Given the description of an element on the screen output the (x, y) to click on. 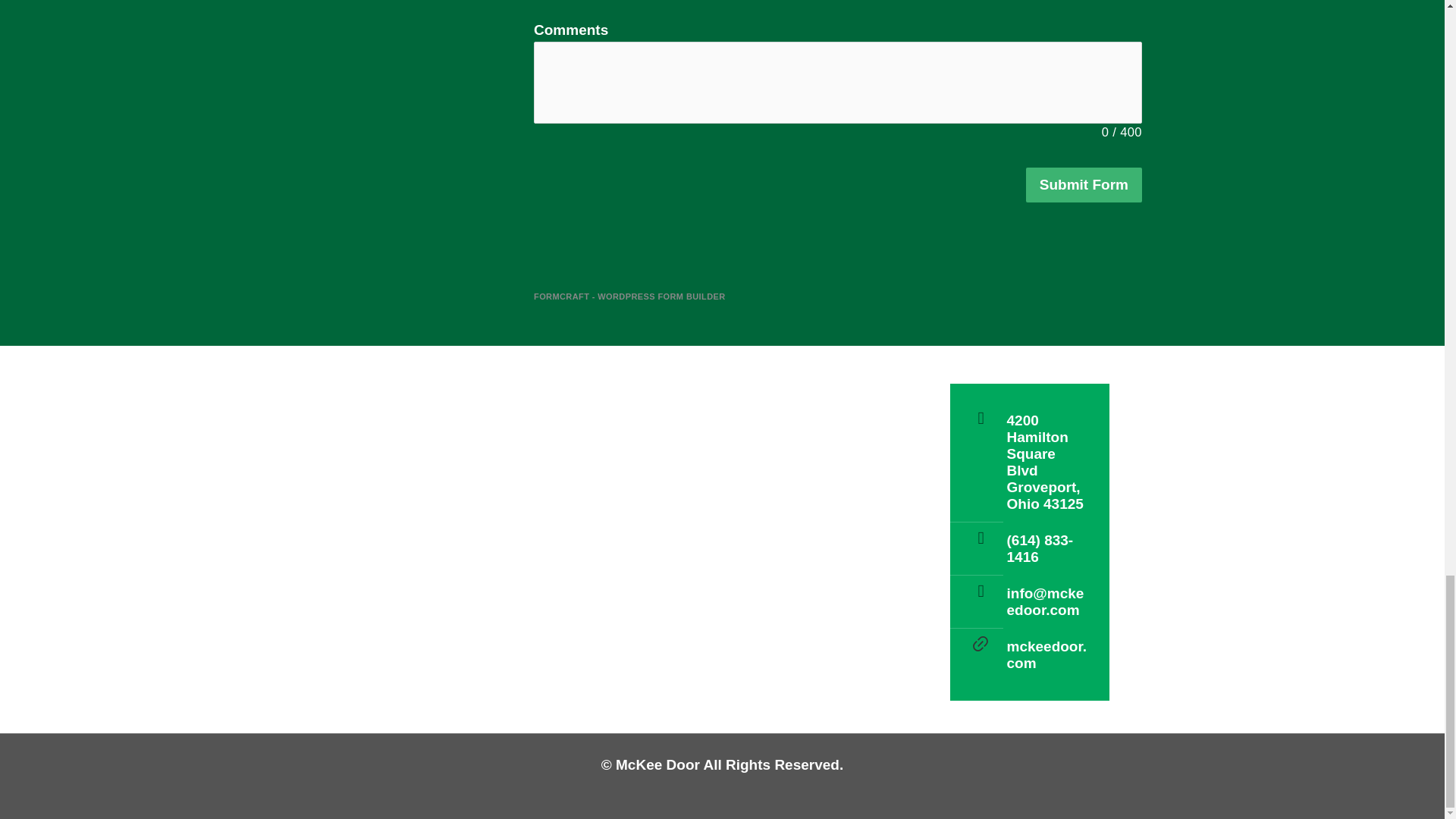
FORMCRAFT - WORDPRESS FORM BUILDER (629, 296)
mckeedoor.com (1047, 654)
Submit Form (1083, 185)
